Given the description of an element on the screen output the (x, y) to click on. 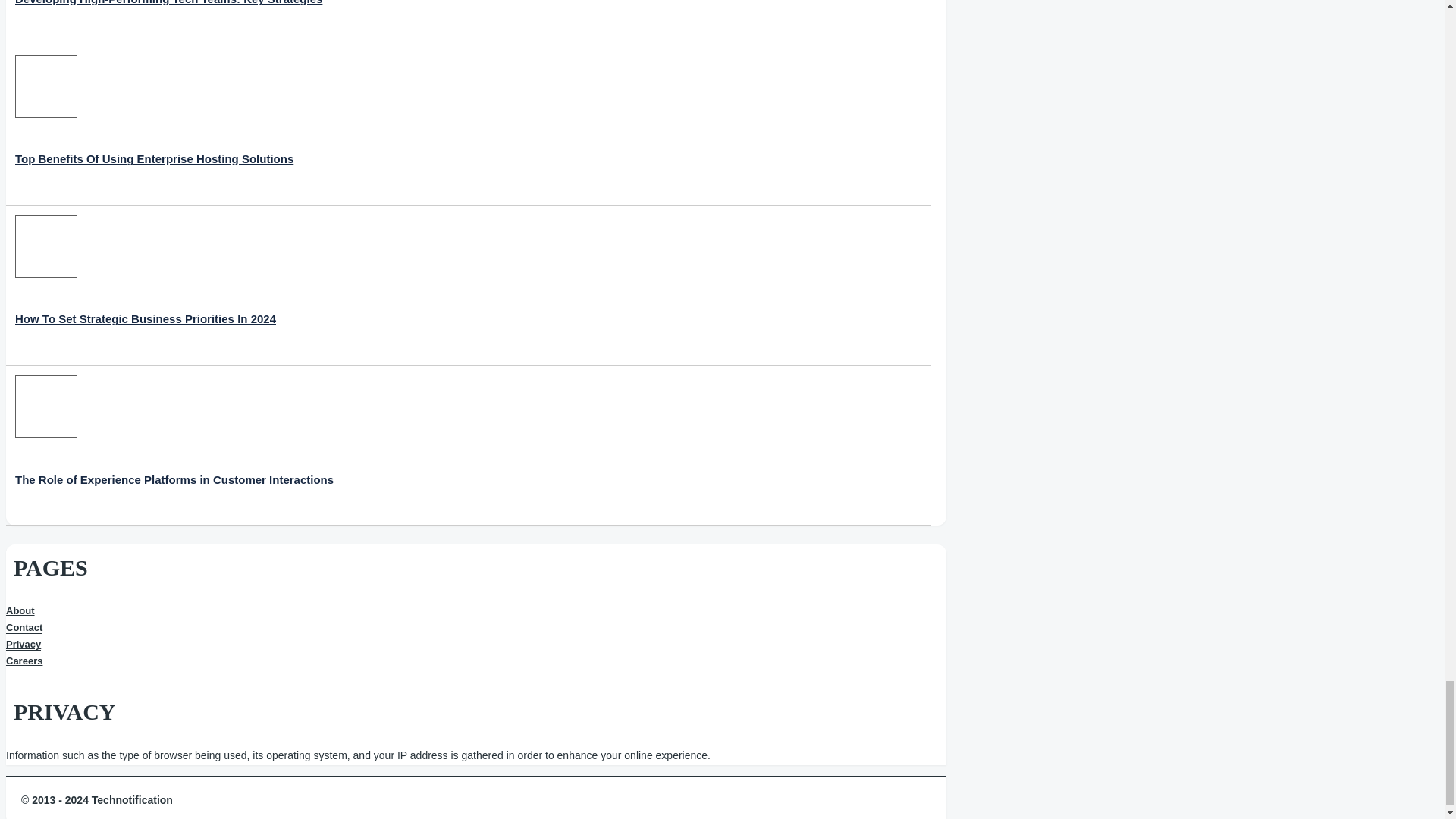
The Role of Experience Platforms in Customer Interactions  (175, 445)
Developing High-Performing Tech Teams: Key Strategies (167, 17)
How To Set Strategic Business Priorities In 2024 (145, 285)
Top Benefits Of Using Enterprise Hosting Solutions (154, 125)
